Given the description of an element on the screen output the (x, y) to click on. 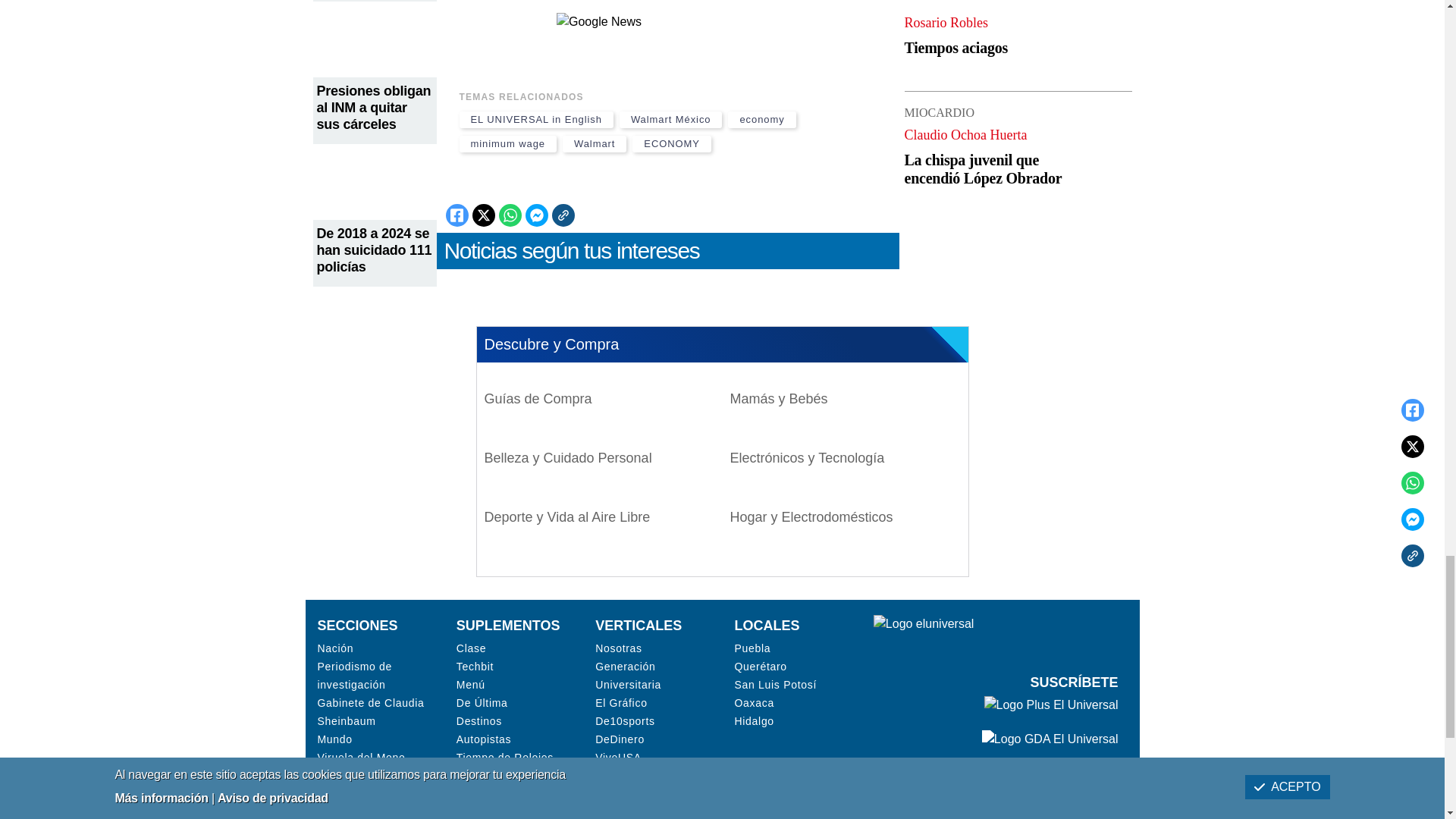
Compartir en Messenger (535, 214)
Ir a Descubre y Compra (537, 398)
Compartir en facebook (456, 214)
Compartir en WhatsApp (510, 214)
Compartir en X (483, 214)
